Given the description of an element on the screen output the (x, y) to click on. 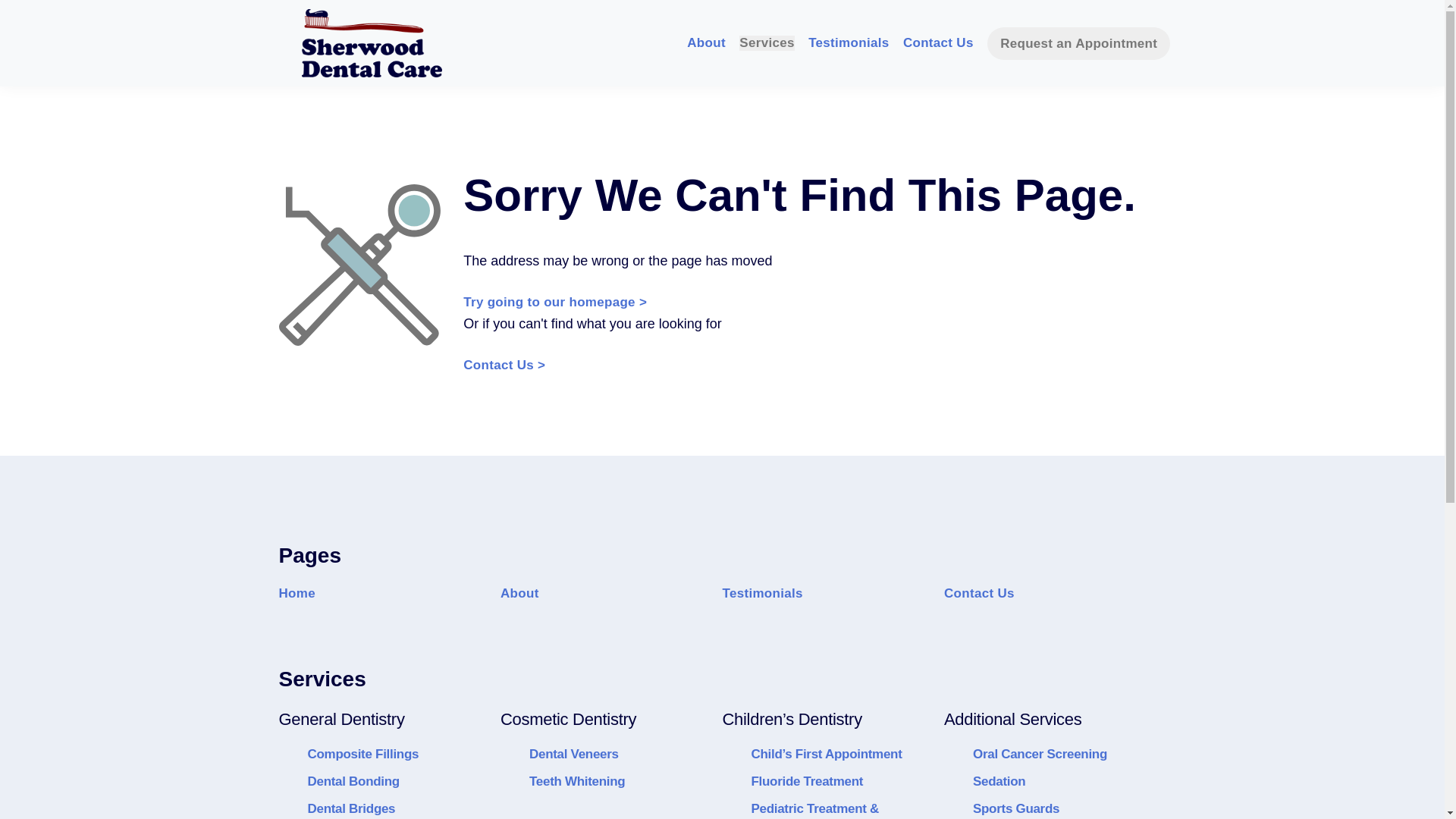
Link to About page (706, 42)
About (706, 42)
Testimonials (848, 42)
Services (766, 43)
Link to Contact Us page (938, 42)
Link to Testimonials page (848, 42)
Contact Us (938, 42)
Request an Appointment (1078, 43)
